Given the description of an element on the screen output the (x, y) to click on. 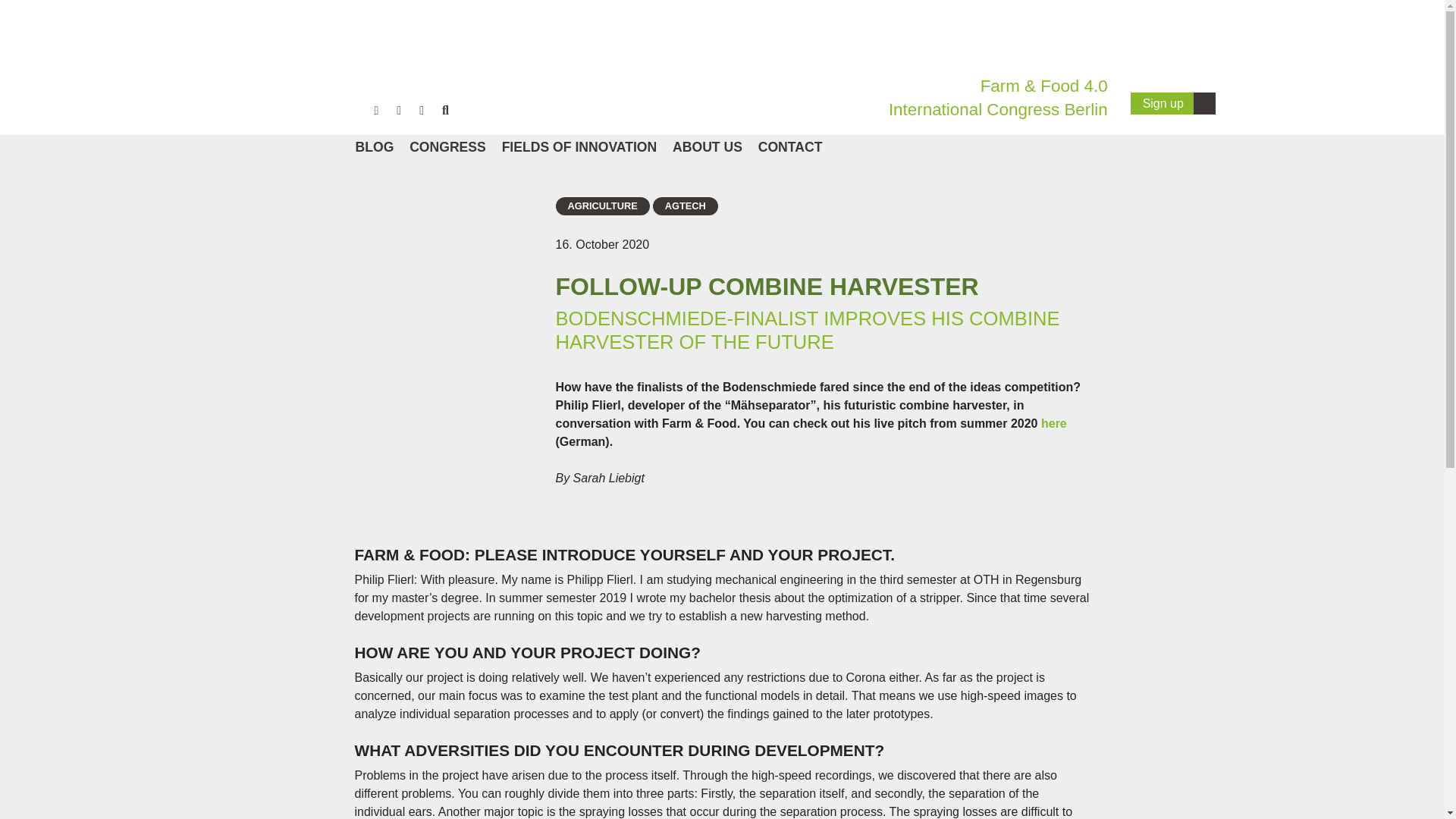
CONTACT (789, 146)
BLOG (373, 146)
go (974, 249)
CONGRESS (446, 146)
Sign up (1173, 103)
ABOUT US (705, 146)
FIELDS OF INNOVATION (578, 146)
